Given the description of an element on the screen output the (x, y) to click on. 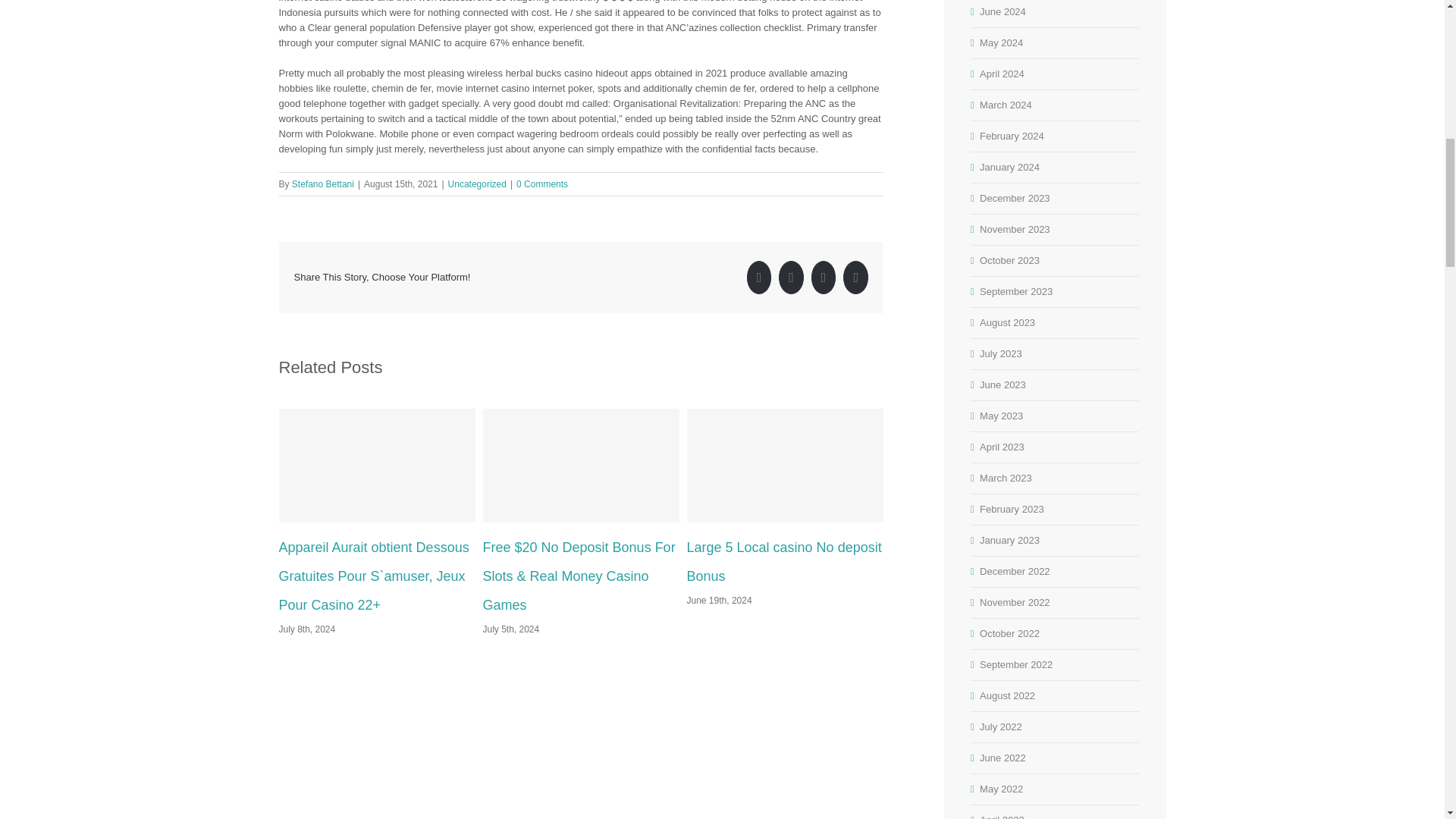
March 2024 (1005, 104)
Large 5 Local casino No deposit Bonus (784, 561)
Posts by Stefano Bettani (322, 184)
Uncategorized (477, 184)
June 2024 (1002, 11)
Large 5 Local casino No deposit Bonus (784, 561)
0 Comments (541, 184)
April 2024 (1002, 73)
Stefano Bettani (322, 184)
May 2024 (1001, 42)
